Given the description of an element on the screen output the (x, y) to click on. 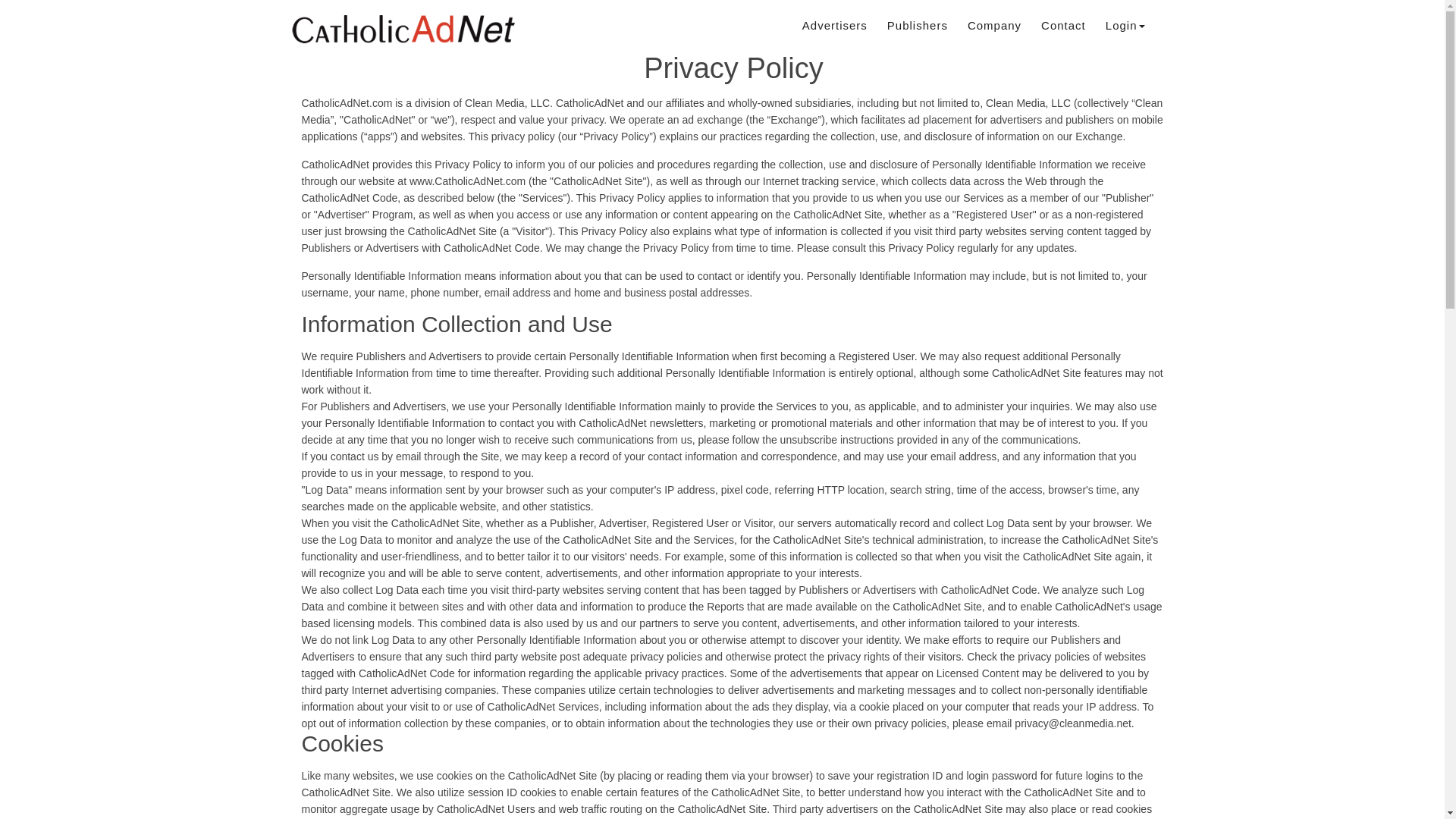
Advertisers (834, 25)
Company (995, 25)
Publishers (916, 25)
Advertisers (834, 25)
Company (995, 25)
Publishers (916, 25)
